Given the description of an element on the screen output the (x, y) to click on. 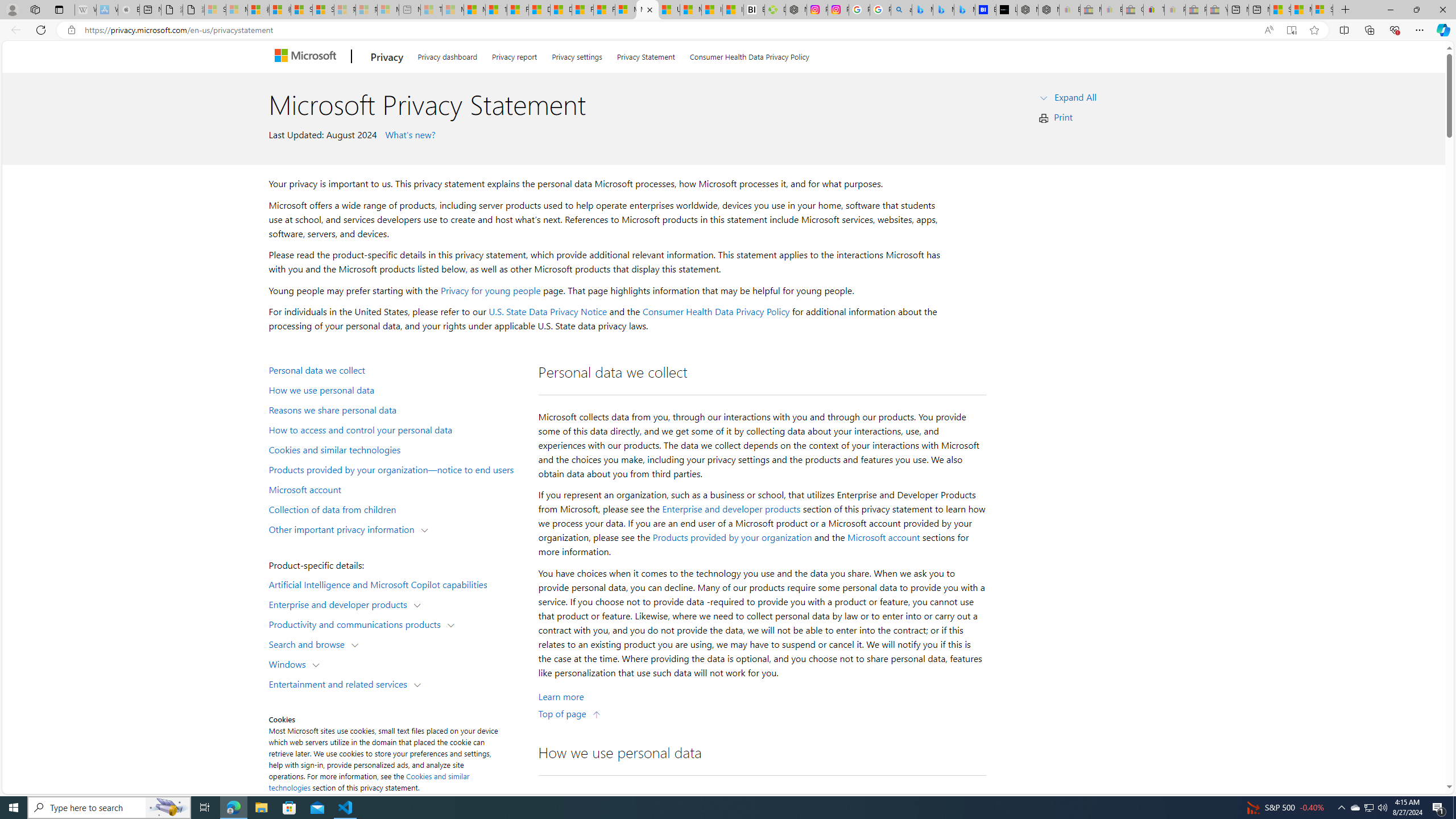
Entertainment and related services (340, 683)
Nordace - Nordace Edin Collection (795, 9)
Drinking tea every day is proven to delay biological aging (561, 9)
Print (1063, 116)
alabama high school quarterback dies - Search (901, 9)
Artificial Intelligence and Microsoft Copilot capabilities (395, 583)
Privacy settings (577, 54)
